Given the description of an element on the screen output the (x, y) to click on. 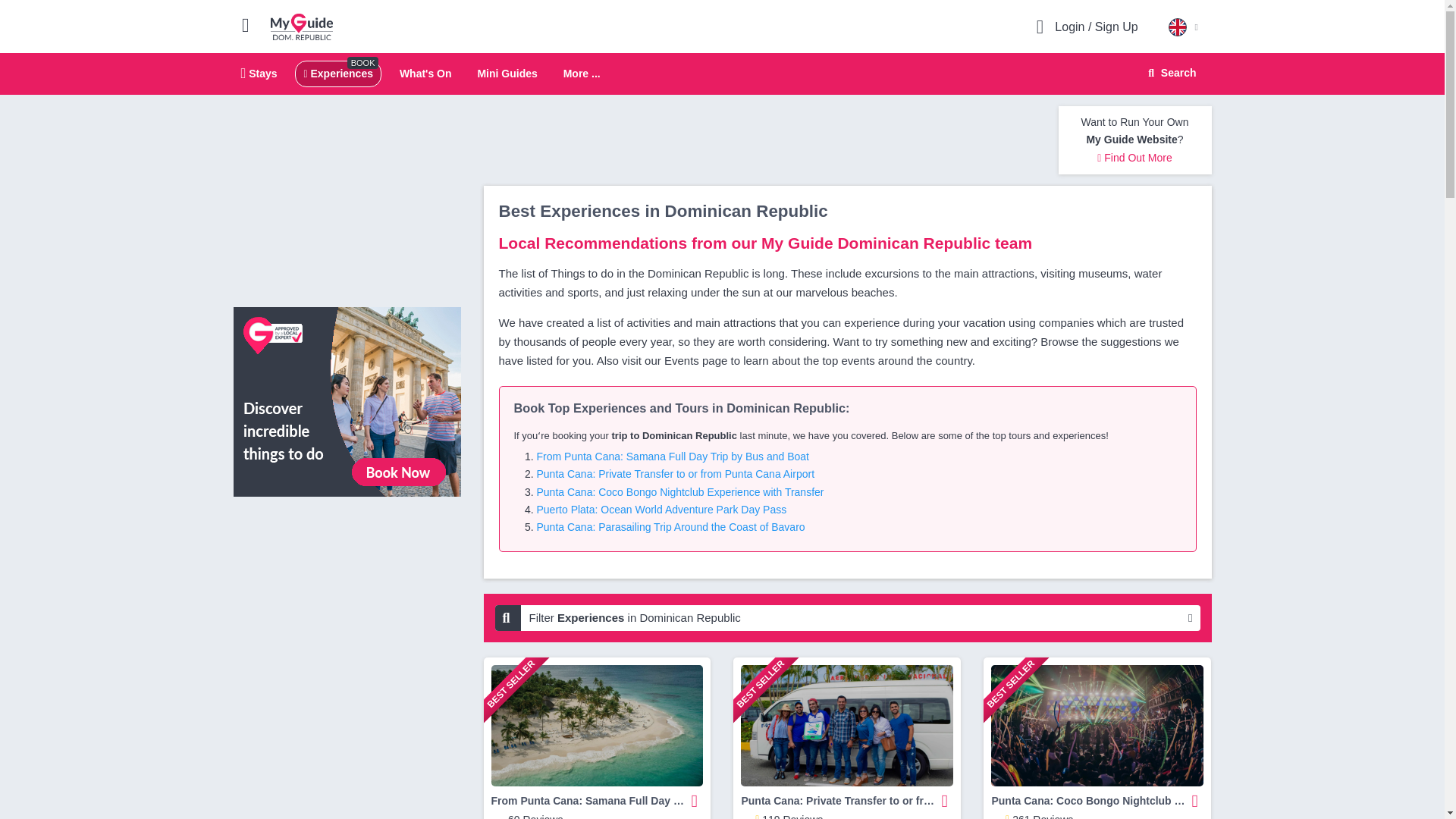
My Guide Dominican Republic (301, 25)
Experiences (337, 73)
Search Website (1170, 73)
What's On (721, 74)
More ... (424, 73)
Stays (581, 73)
Mini Guides (259, 73)
Search (507, 73)
